Given the description of an element on the screen output the (x, y) to click on. 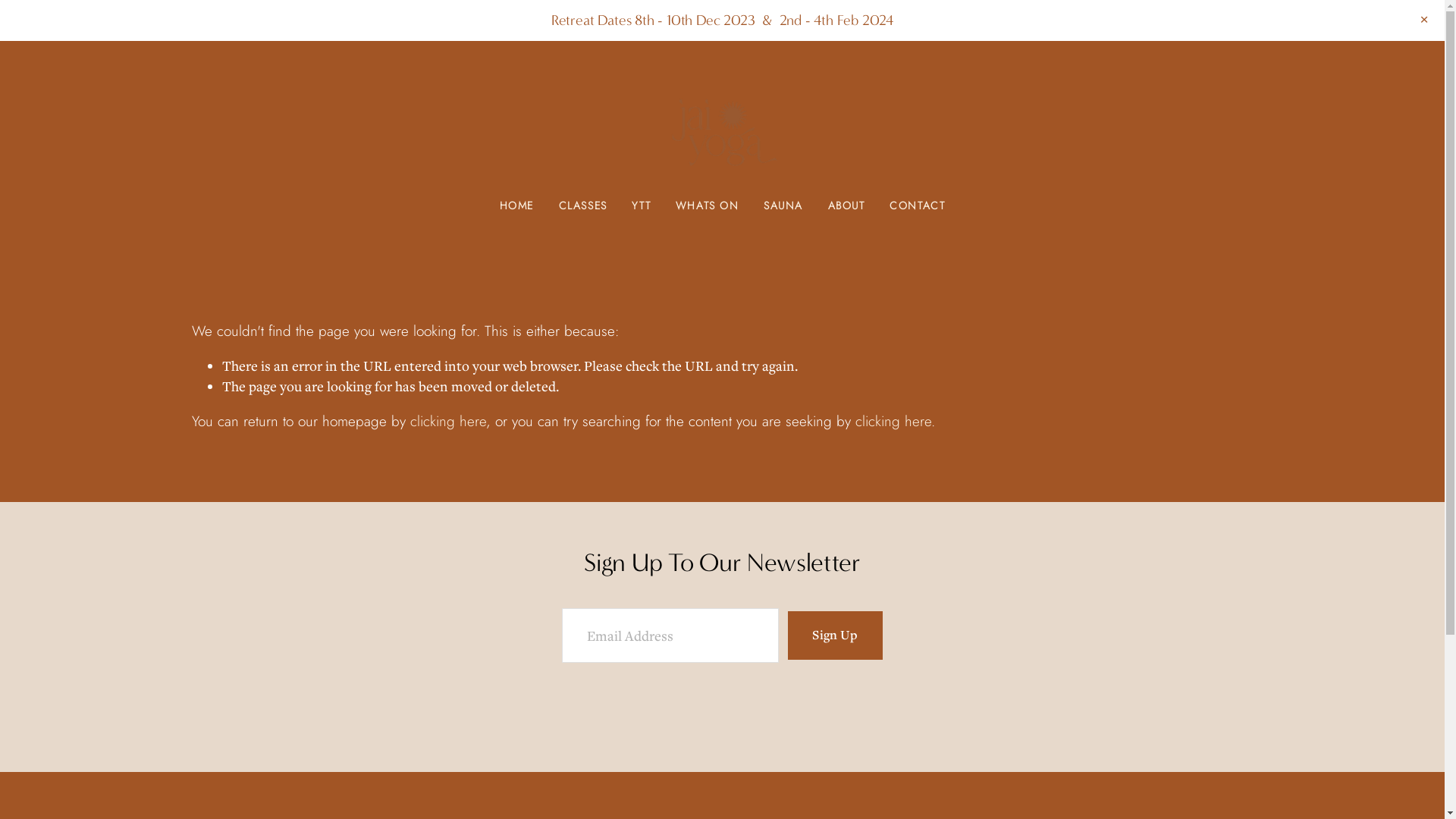
YTT Element type: text (640, 204)
WHATS ON Element type: text (707, 204)
CLASSES Element type: text (582, 204)
ABOUT Element type: text (846, 204)
HOME Element type: text (516, 204)
Sign Up Element type: text (834, 635)
SAUNA Element type: text (783, 204)
clicking here Element type: text (893, 420)
clicking here Element type: text (447, 420)
CONTACT Element type: text (916, 204)
